Given the description of an element on the screen output the (x, y) to click on. 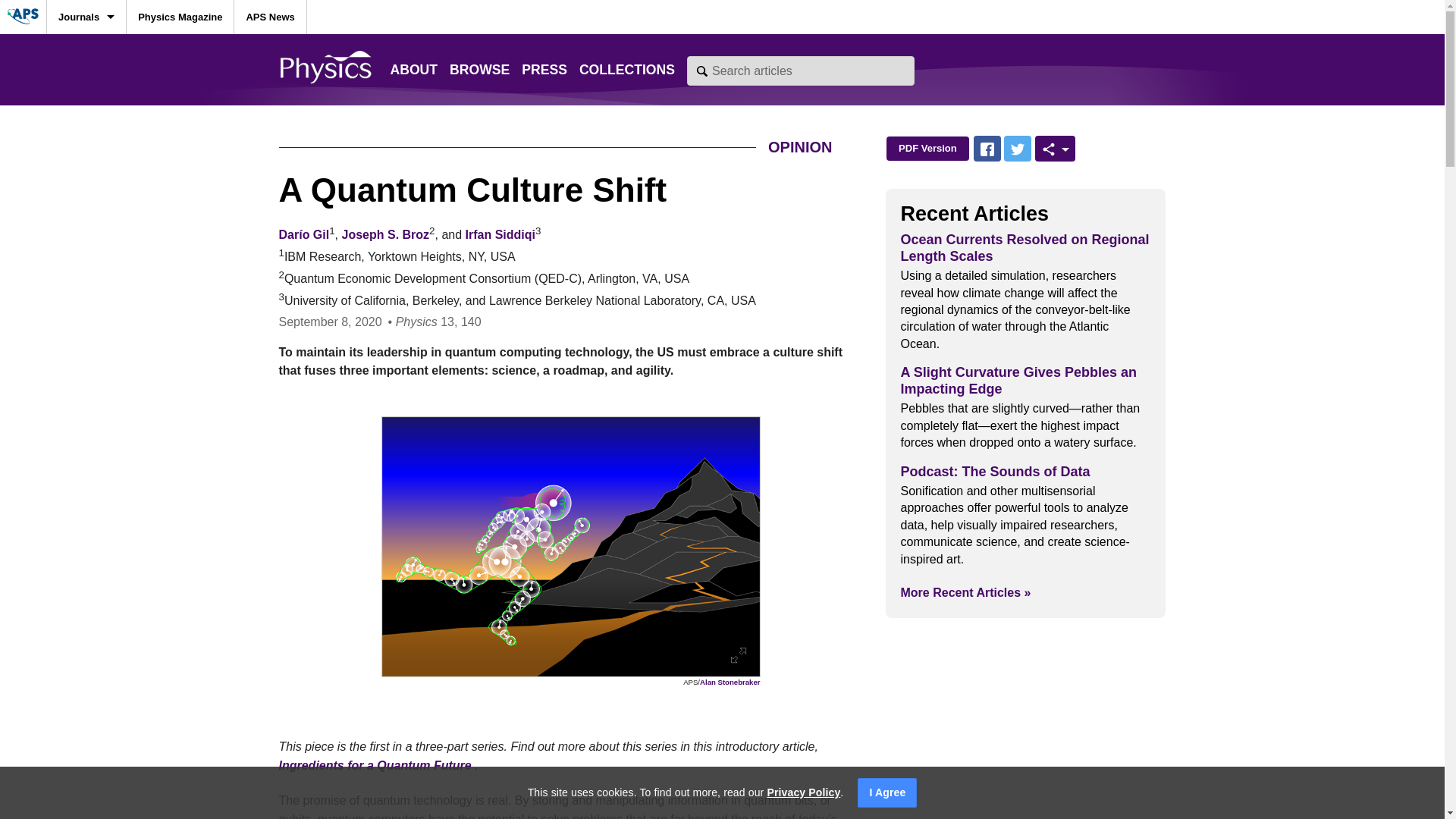
Physical Review D (85, 324)
Physical Review X (85, 85)
Physical Review A (85, 222)
ABOUT (414, 69)
Physical Review Fluids (85, 495)
Physical Review E (85, 358)
Reviews of Modern Physics (85, 188)
Physical Review Physics Education Research (85, 563)
Physical Review Materials (85, 529)
Journals (85, 17)
Physical Review Letters (85, 51)
PRX Quantum (85, 154)
PRESS (544, 69)
Physics Magazine (179, 17)
COLLECTIONS (627, 69)
